Given the description of an element on the screen output the (x, y) to click on. 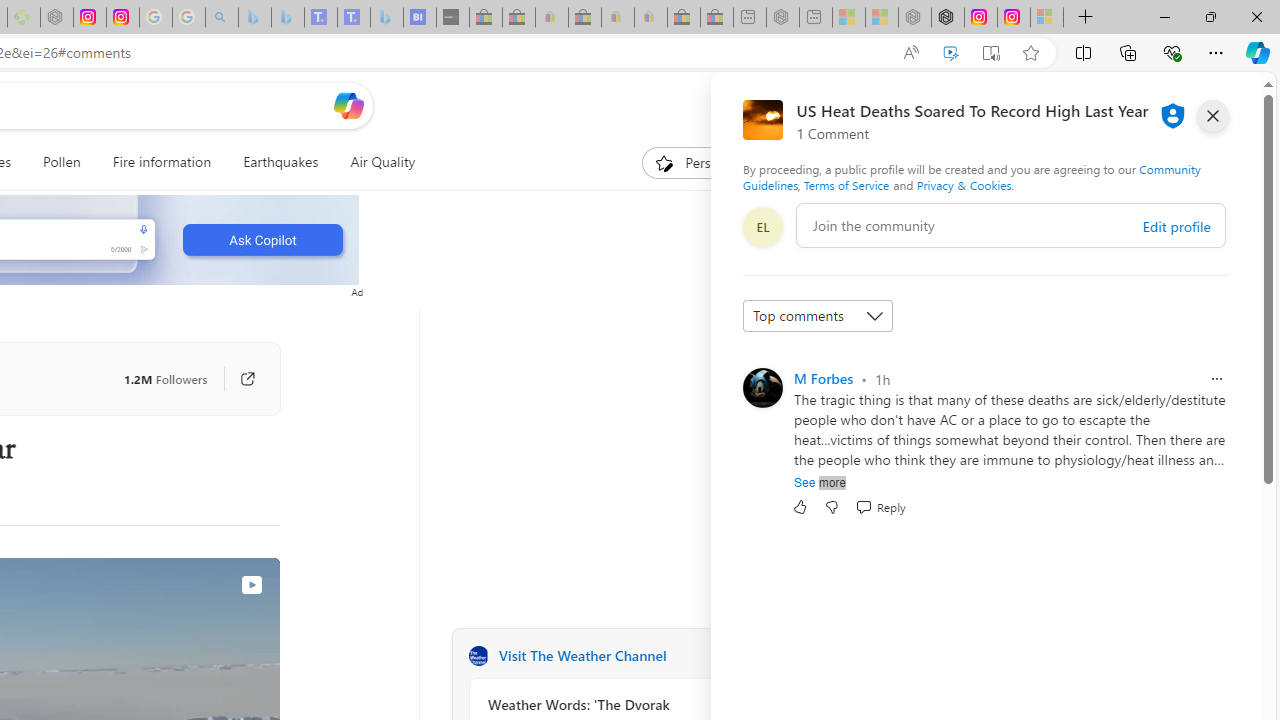
Enter Immersive Reader (F9) (991, 53)
Terms of Service (846, 184)
Nordace - Summer Adventures 2024 - Sleeping (914, 17)
Reply Reply Comment (880, 507)
Open settings (1216, 105)
Yard, Garden & Outdoor Living - Sleeping (717, 17)
Air Quality (382, 162)
The Weather Channel (478, 655)
